Given the description of an element on the screen output the (x, y) to click on. 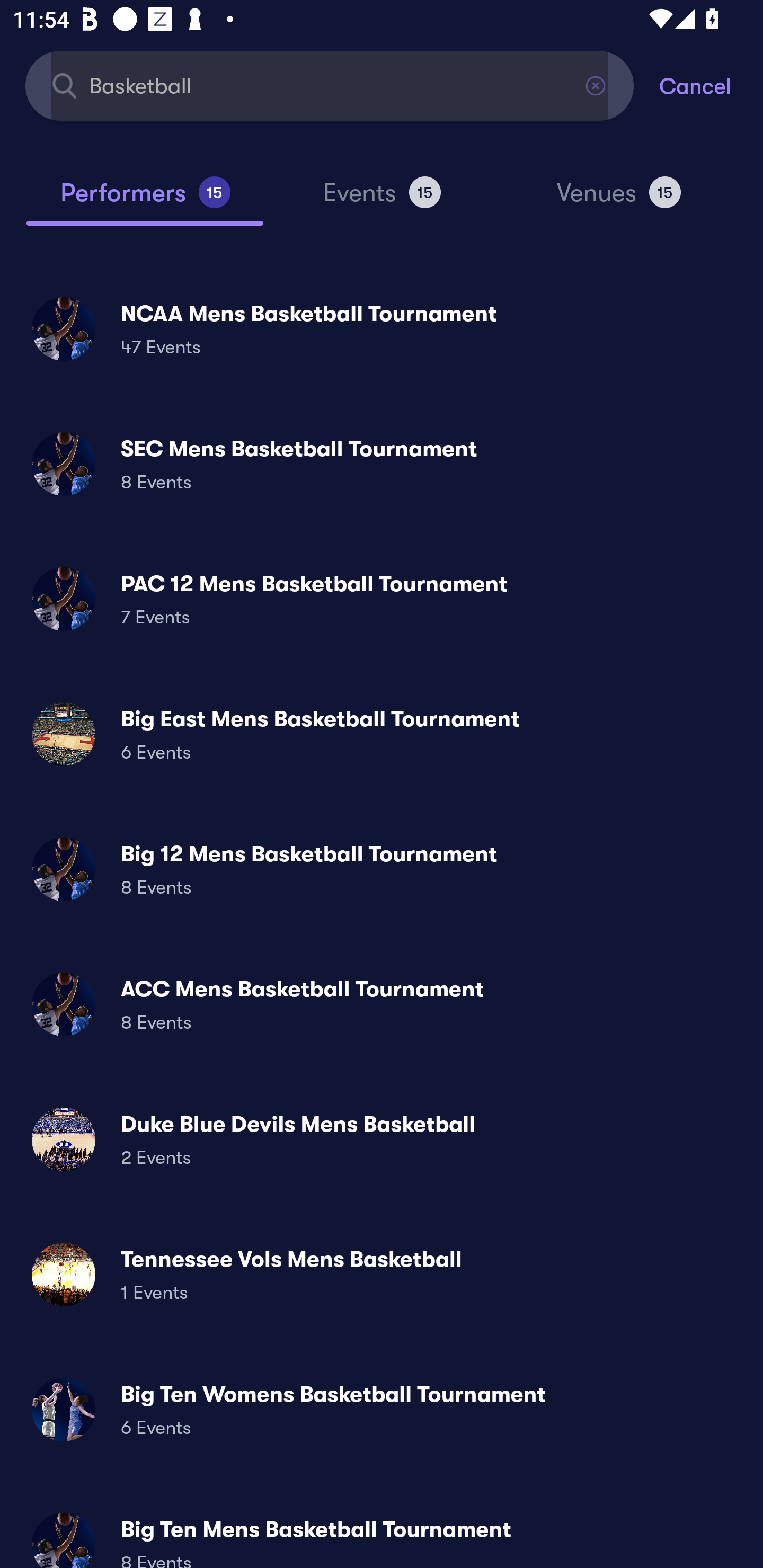
Basketball Find (329, 85)
Basketball Find (329, 85)
Cancel (711, 85)
Performers 15 (144, 200)
Events 15 (381, 200)
Venues 15 (618, 200)
NCAA Mens Basketball Tournament 47 Events (381, 328)
SEC Mens Basketball Tournament 8 Events (381, 464)
PAC 12 Mens Basketball Tournament 7 Events (381, 598)
Big East Mens Basketball Tournament 6 Events (381, 734)
Big 12 Mens Basketball Tournament 8 Events (381, 869)
ACC Mens Basketball Tournament 8 Events (381, 1004)
Duke Blue Devils Mens Basketball 2 Events (381, 1138)
Tennessee Vols Mens Basketball 1 Events (381, 1273)
Big Ten Womens Basketball Tournament 6 Events (381, 1409)
Big Ten Mens Basketball Tournament 8 Events (381, 1532)
